Given the description of an element on the screen output the (x, y) to click on. 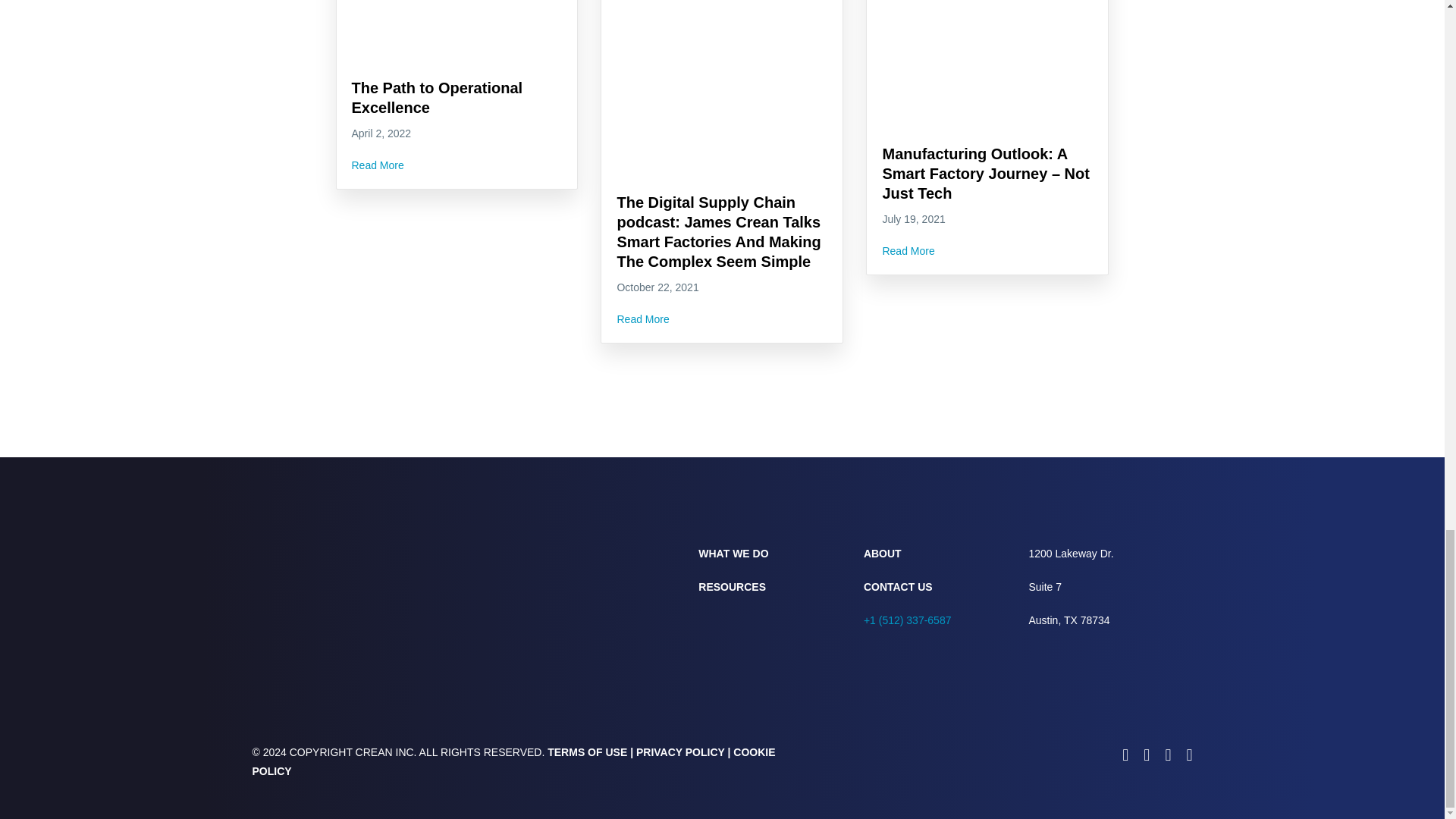
Read More (378, 165)
The Path to Operational Excellence (378, 165)
The Path to Operational Excellence (437, 97)
The Path to Operational Excellence (437, 97)
Read More (641, 319)
The Path to Operational Excellence (457, 52)
